Given the description of an element on the screen output the (x, y) to click on. 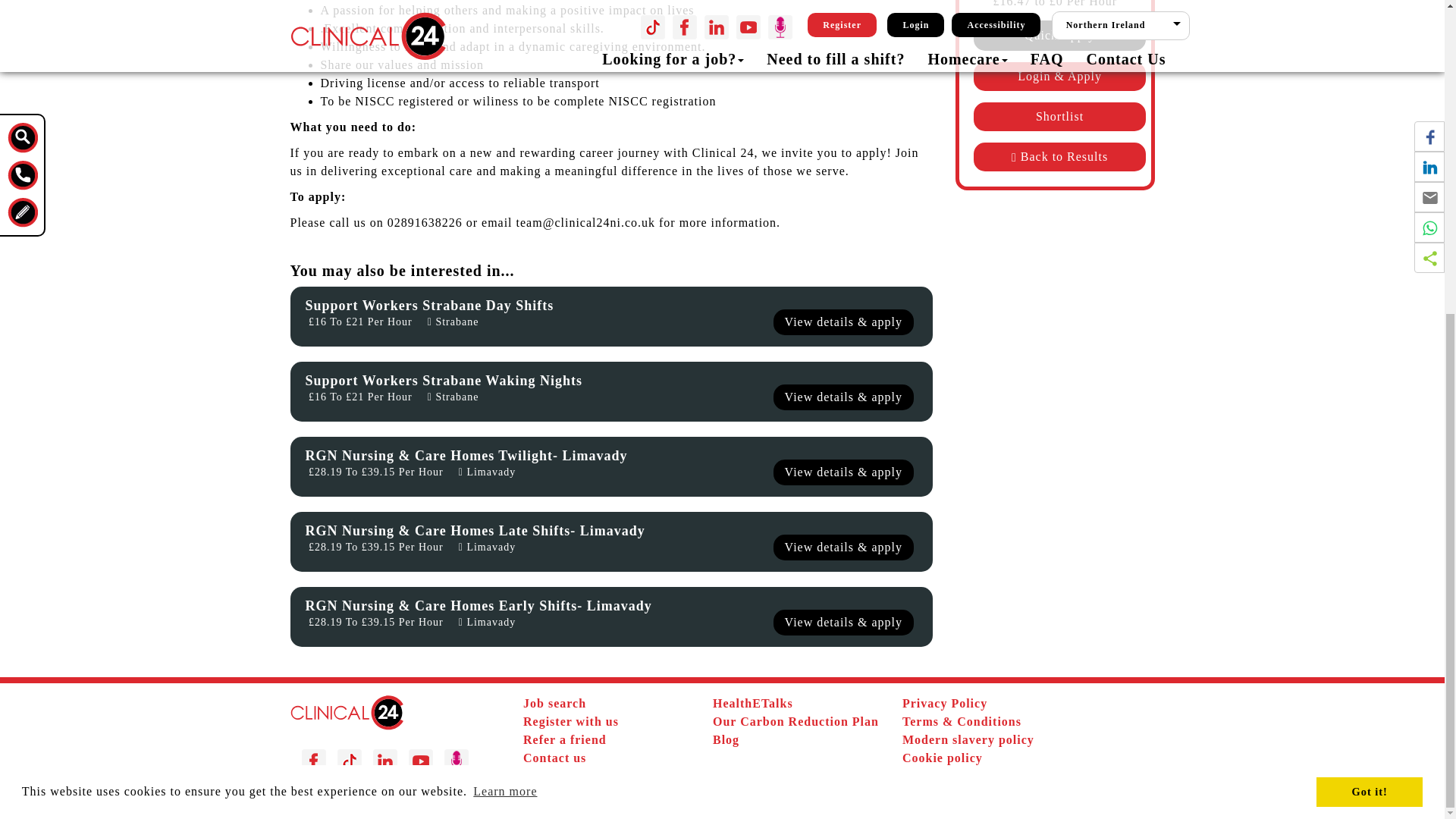
Learn more (505, 288)
Got it! (1369, 288)
